Given the description of an element on the screen output the (x, y) to click on. 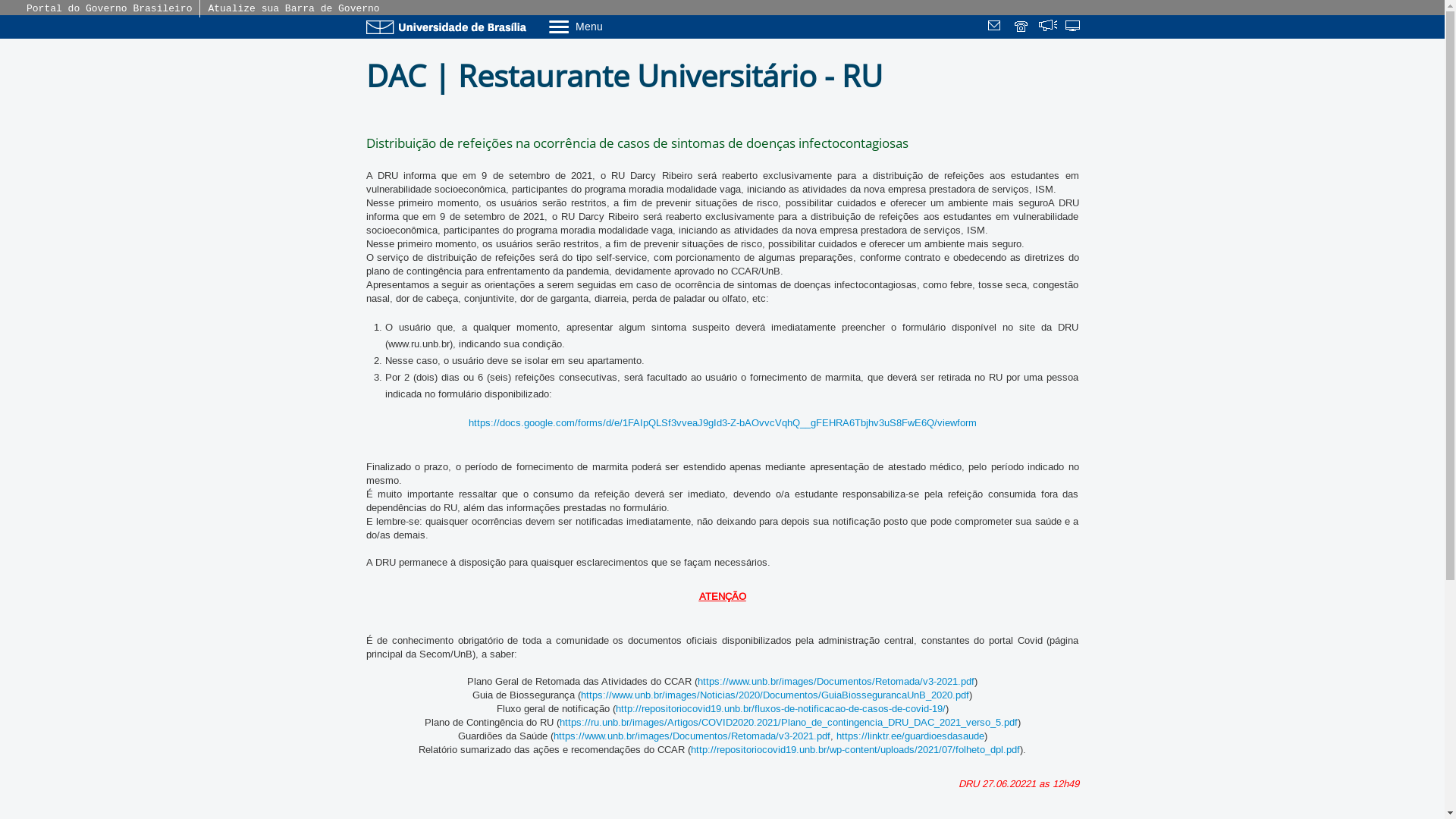
Atualize sua Barra de Governo Element type: text (293, 8)
https://www.unb.br/images/Documentos/Retomada/v3-2021.pdf Element type: text (691, 736)
Menu Element type: text (613, 25)
  Element type: text (1047, 27)
  Element type: text (996, 27)
Sistemas Element type: hover (1073, 27)
Telefones da UnB Element type: hover (1022, 27)
Portal do Governo Brasileiro Element type: text (108, 8)
Webmail Element type: hover (996, 27)
Ir para o Portal da UnB Element type: hover (448, 26)
  Element type: text (1022, 27)
Fala.BR Element type: hover (1047, 27)
https://www.unb.br/images/Documentos/Retomada/v3-2021.pdf Element type: text (835, 681)
https://linktr.ee/guardioesdasaude Element type: text (909, 736)
  Element type: text (1073, 27)
